Given the description of an element on the screen output the (x, y) to click on. 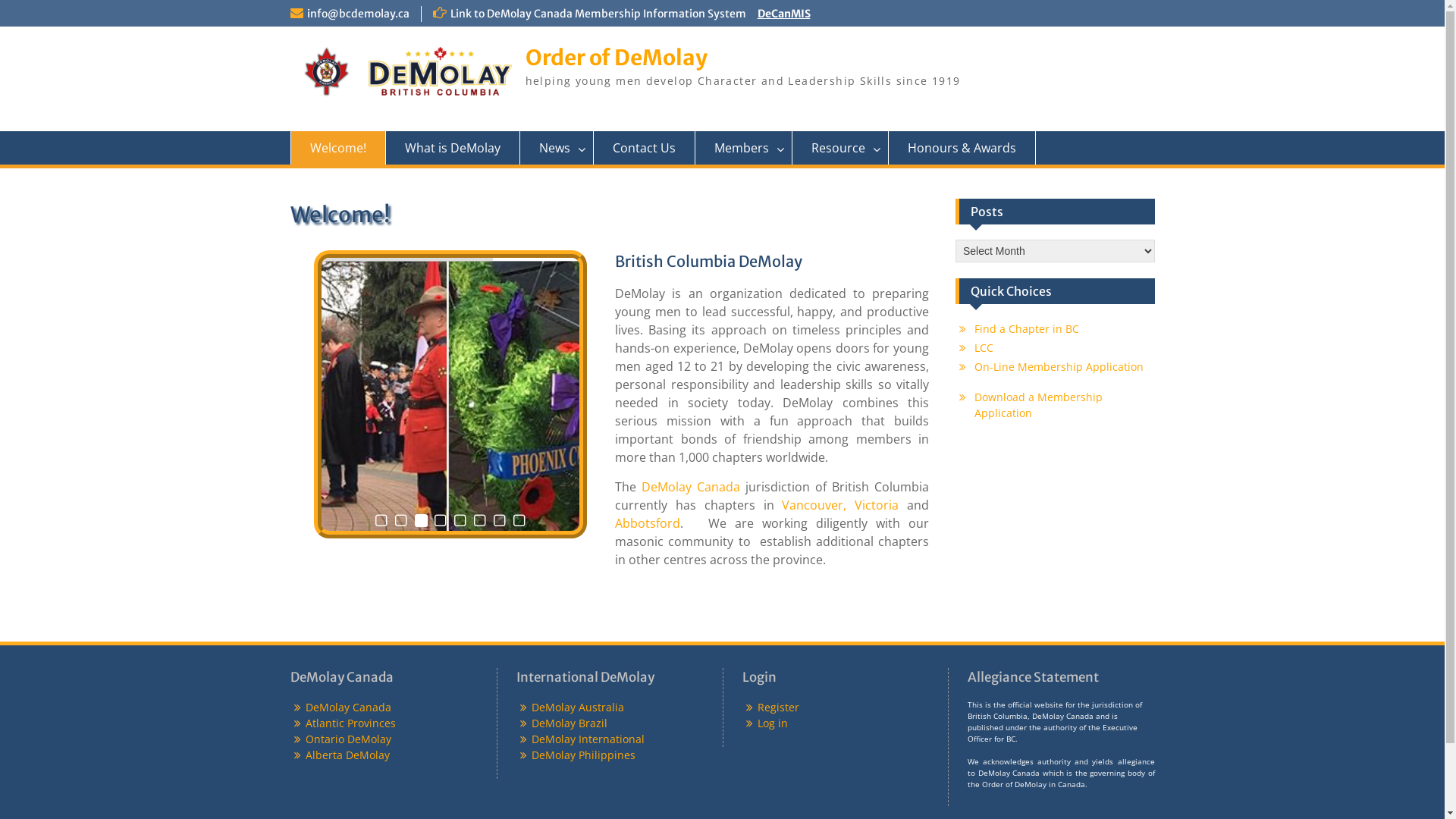
Abbotsford Element type: text (647, 522)
Download a Membership Application Element type: text (1038, 404)
Honours & Awards Element type: text (961, 147)
DeMolay Brazil Element type: text (569, 722)
On-Line Membership Application Element type: text (1058, 366)
DeMolay Australia Element type: text (577, 706)
What is DeMolay Element type: text (452, 147)
Atlantic Provinces Element type: text (349, 722)
Log in Element type: text (771, 722)
info@bcdemolay.ca Element type: text (357, 13)
Resource Element type: text (839, 147)
Order of DeMolay Element type: text (615, 57)
DeMolay Canada Element type: text (347, 706)
Contact Us Element type: text (643, 147)
DeMolay International Element type: text (587, 738)
Find a Chapter in BC Element type: text (1026, 328)
News Element type: text (556, 147)
LCC Element type: text (983, 347)
Welcome! Element type: text (337, 147)
Vancouver, Element type: text (813, 504)
Victoria Element type: text (876, 504)
Ontario DeMolay Element type: text (347, 738)
DeCanMIS Element type: text (782, 13)
Members Element type: text (742, 147)
Register Element type: text (777, 706)
Alberta DeMolay Element type: text (346, 754)
DeMolay Philippines Element type: text (583, 754)
DeMolay Canada Element type: text (690, 486)
